Given the description of an element on the screen output the (x, y) to click on. 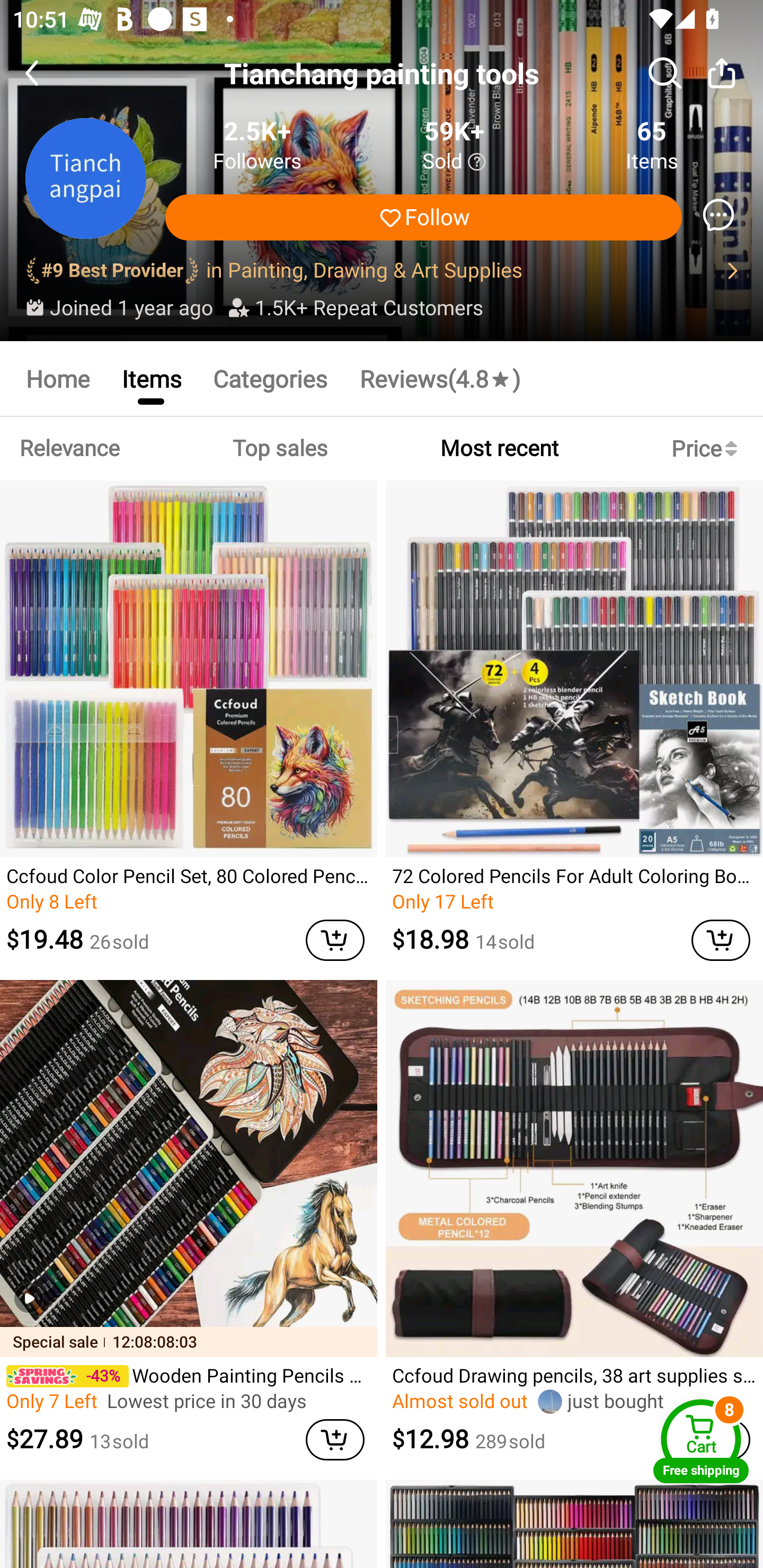
back (47, 72)
share (721, 72)
Sold (453, 161)
Home (57, 378)
Items (150, 378)
Categories (269, 378)
Reviews(4.8 ) (439, 378)
Relevance (69, 448)
Top sales (279, 448)
Most recent (498, 448)
Price (707, 448)
cart delete (334, 939)
cart delete (720, 939)
Cart Free shipping Cart (701, 1440)
cart delete (334, 1439)
